Given the description of an element on the screen output the (x, y) to click on. 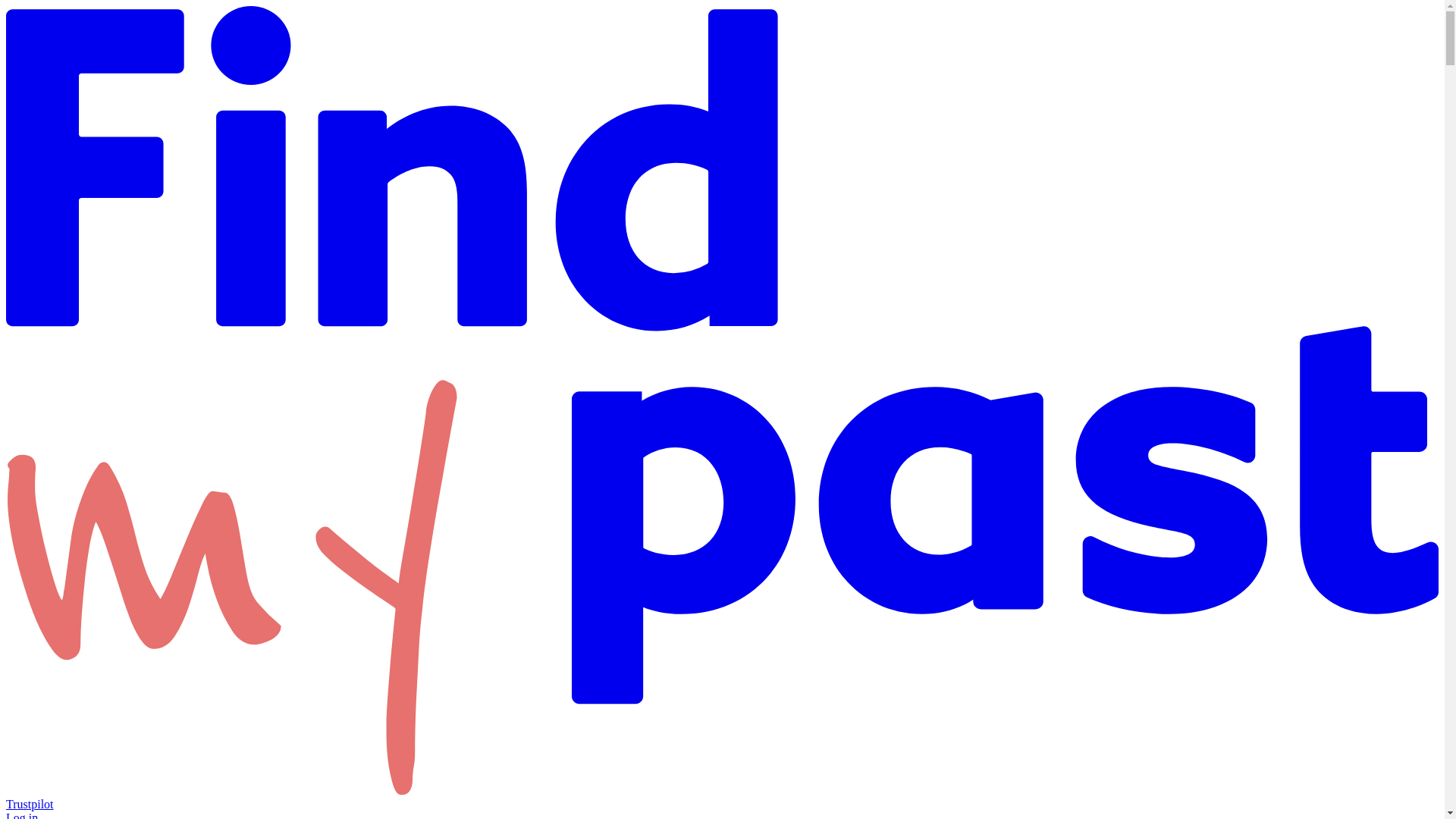
Log in (21, 815)
Trustpilot (29, 803)
